Given the description of an element on the screen output the (x, y) to click on. 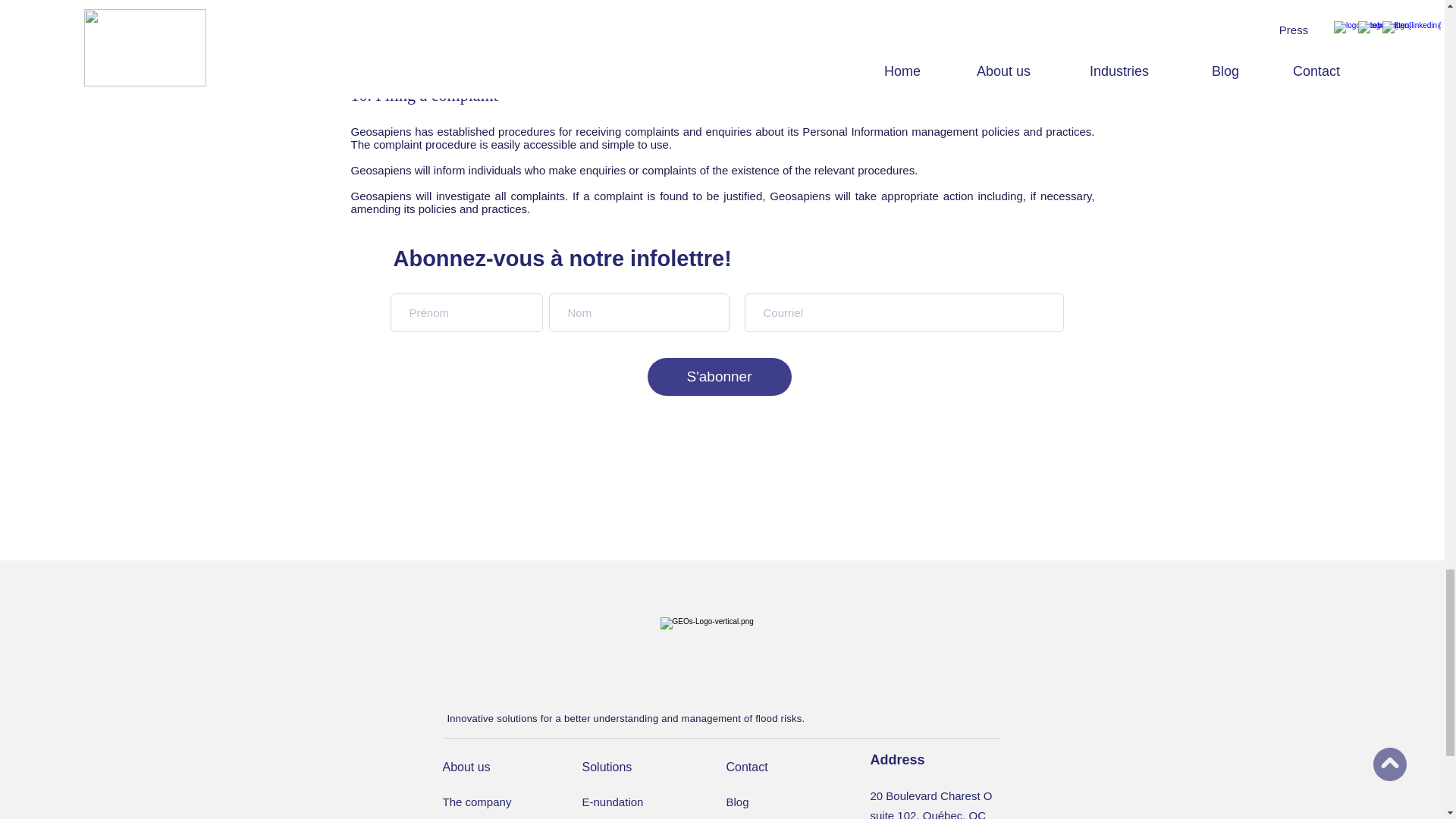
Contact (780, 767)
The company (496, 801)
E-nundation (636, 801)
Solutions (636, 767)
About us (496, 767)
S'abonner (719, 376)
Blog (780, 801)
